Given the description of an element on the screen output the (x, y) to click on. 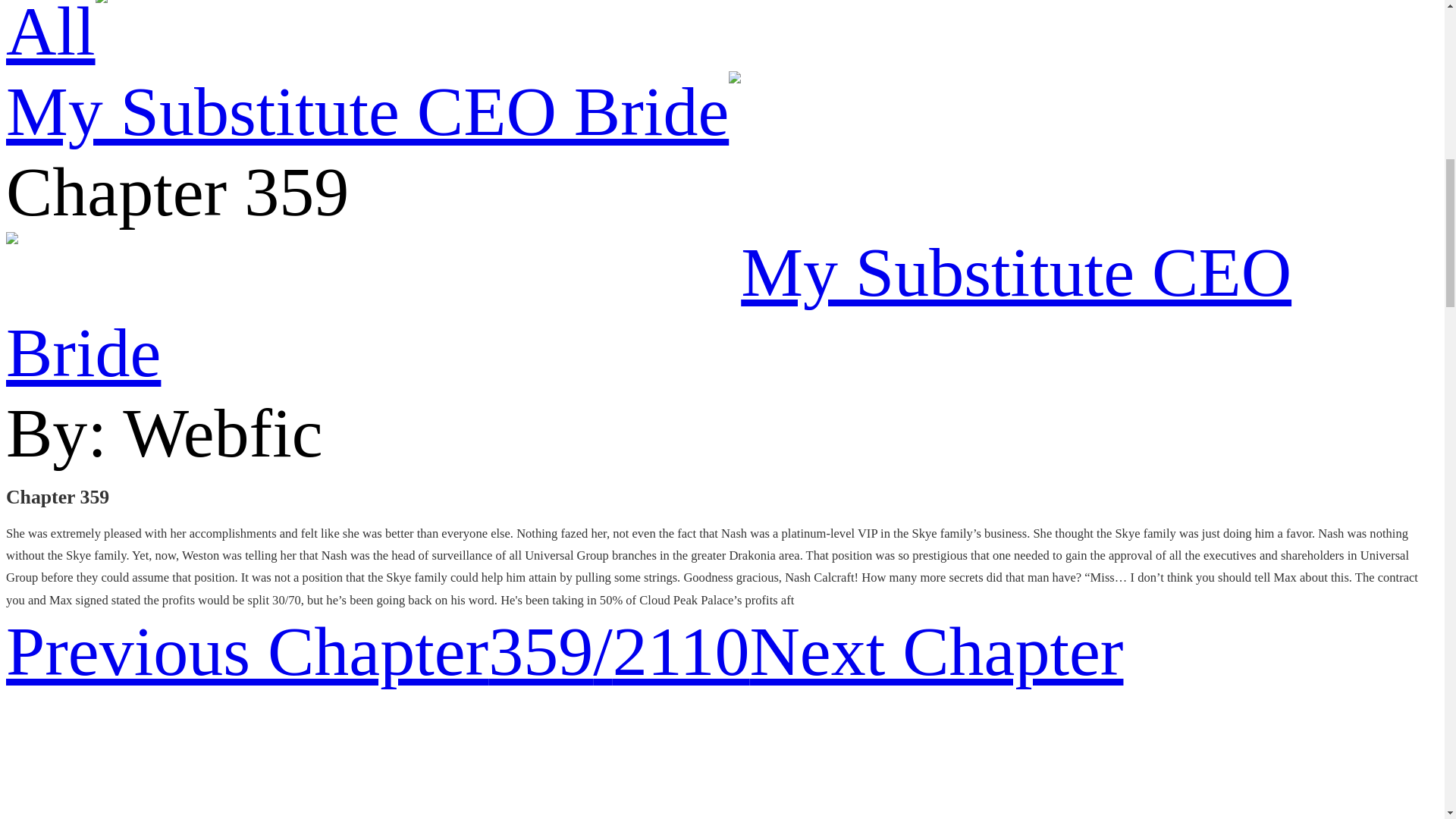
All (50, 34)
Next Chapter (935, 651)
My Substitute CEO Bride (367, 110)
Previous Chapter (246, 651)
